Given the description of an element on the screen output the (x, y) to click on. 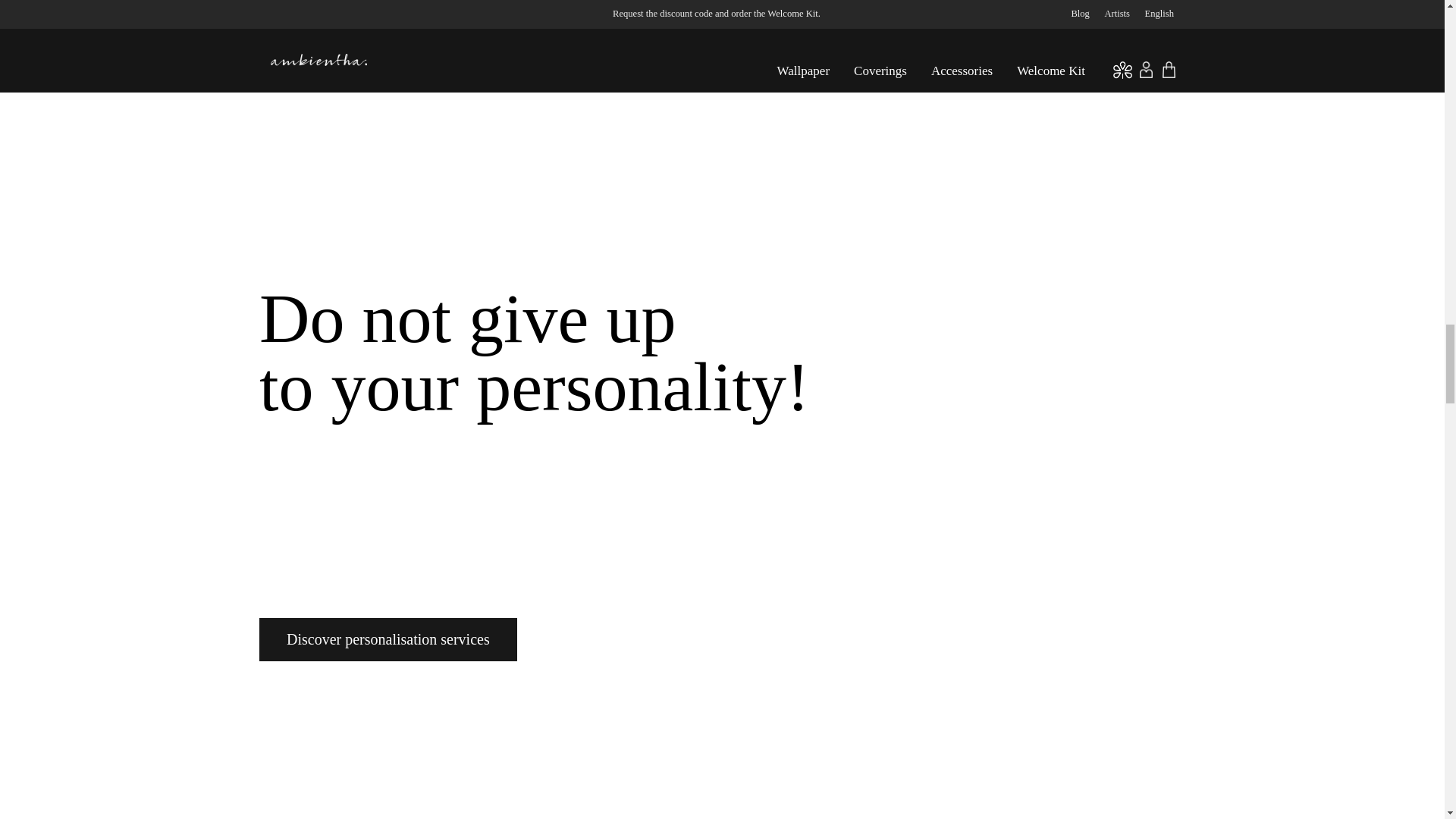
Personalisation services (387, 639)
